Given the description of an element on the screen output the (x, y) to click on. 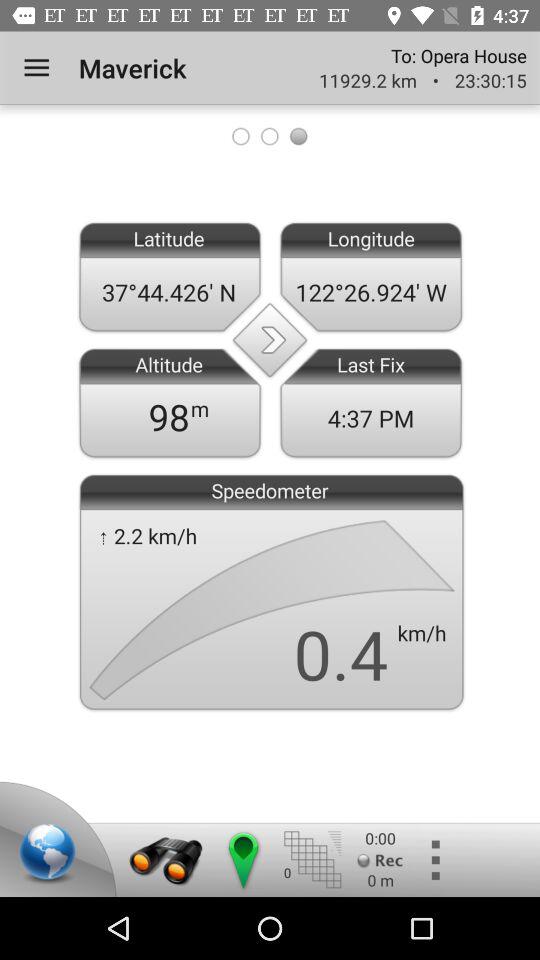
display more options (434, 860)
